Given the description of an element on the screen output the (x, y) to click on. 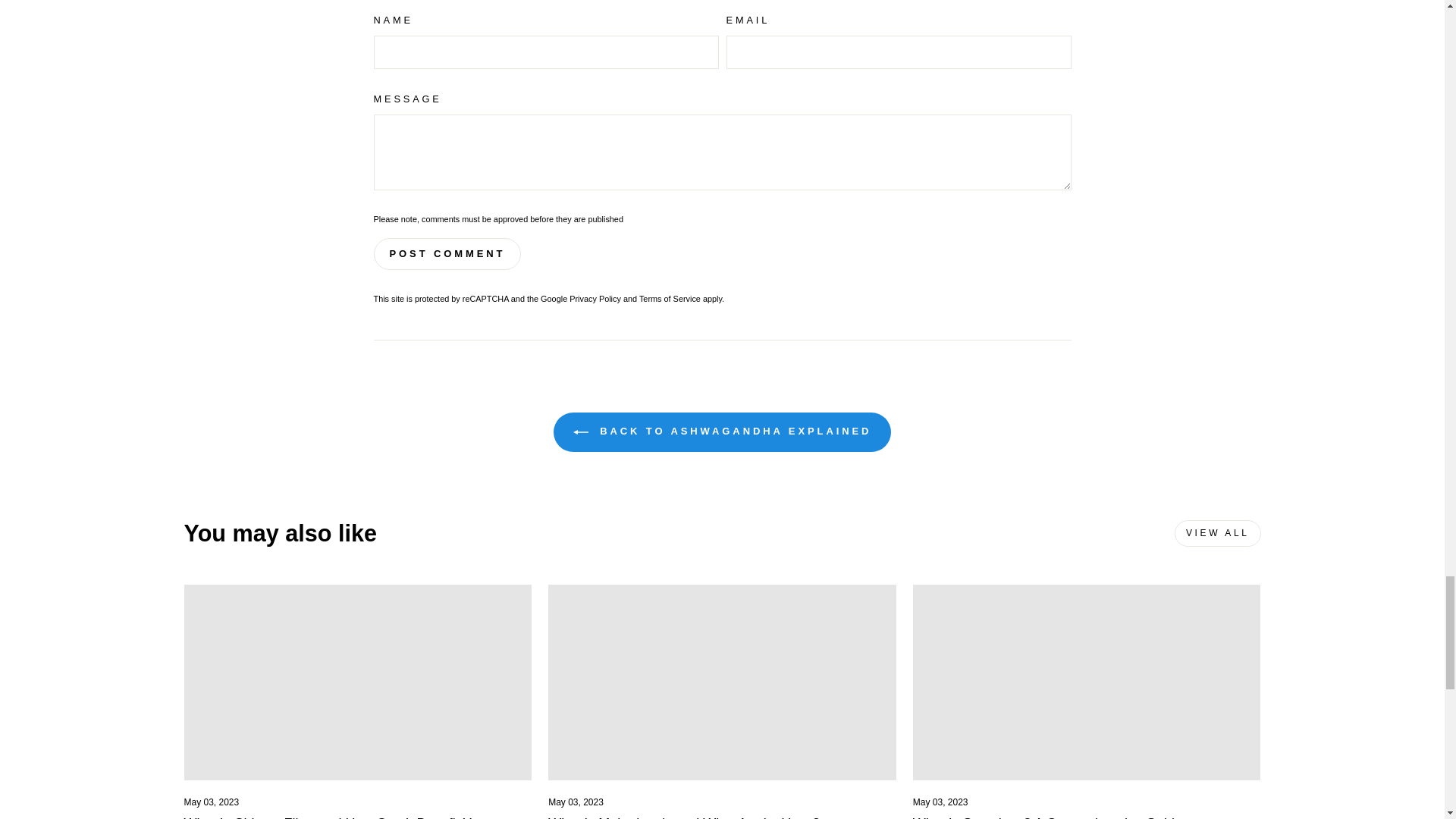
Terms of Service (669, 298)
VIEW ALL (1217, 533)
POST COMMENT (446, 254)
Privacy Policy (595, 298)
ICON-LEFT-ARROW BACK TO ASHWAGANDHA EXPLAINED (722, 432)
ICON-LEFT-ARROW (580, 432)
